Given the description of an element on the screen output the (x, y) to click on. 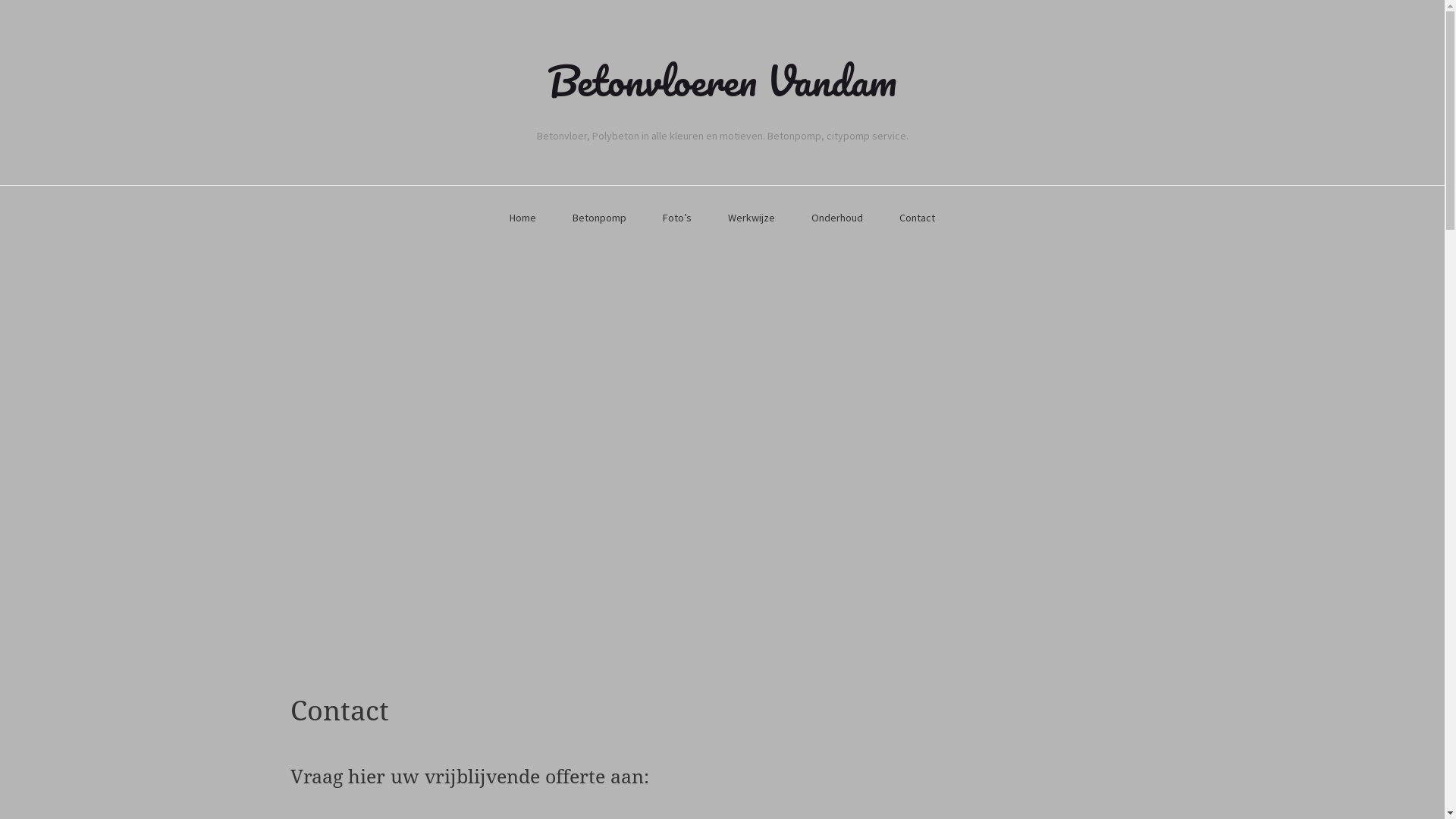
Contact Element type: text (917, 218)
Betonvloeren Vandam Element type: text (722, 80)
Werkwijze Element type: text (751, 218)
Betonpomp Element type: text (599, 218)
Onderhoud Element type: text (836, 218)
Home Element type: text (522, 218)
